Given the description of an element on the screen output the (x, y) to click on. 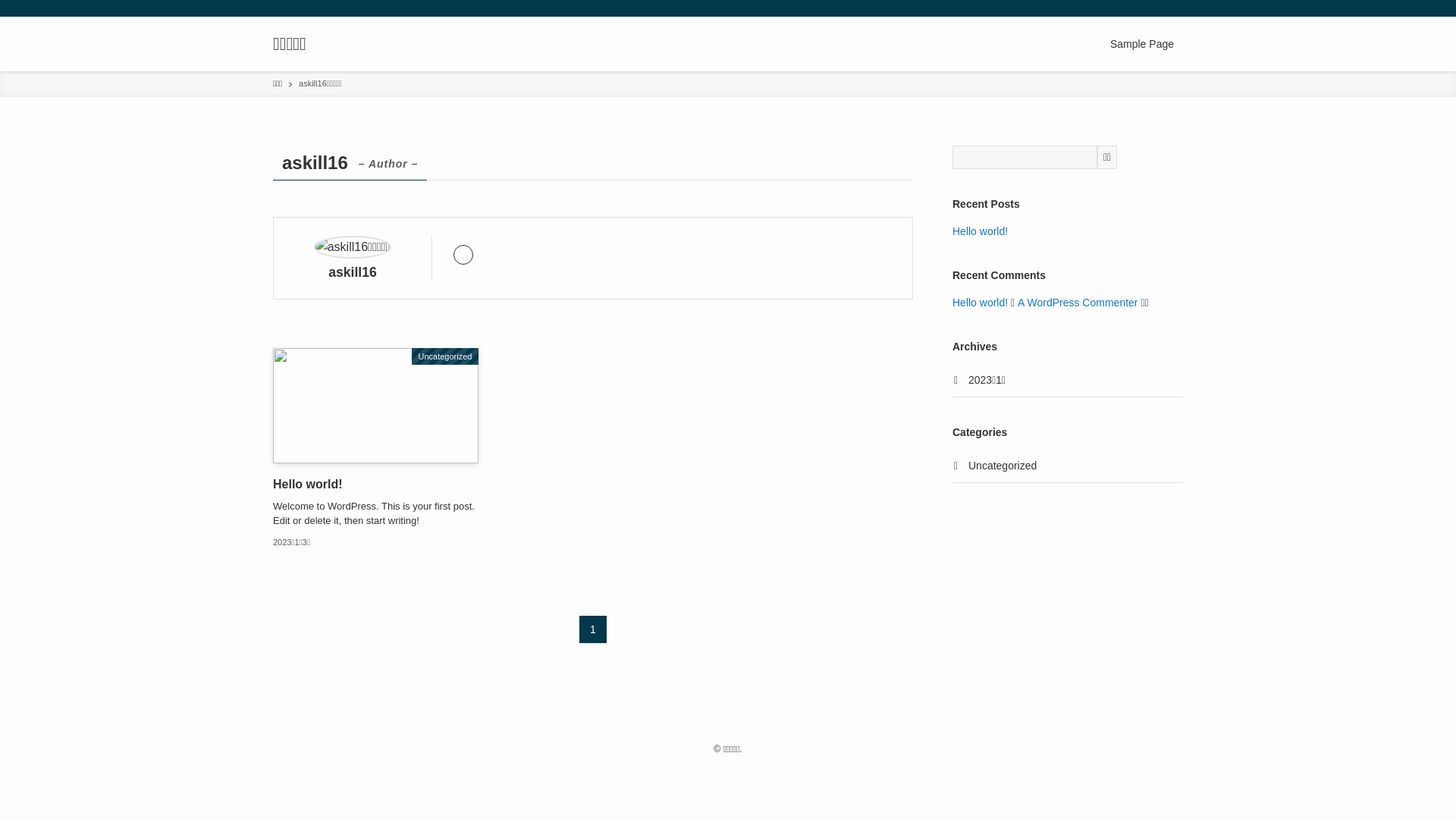
Hello world! Element type: text (979, 231)
A WordPress Commenter Element type: text (1077, 302)
Uncategorized Element type: text (1067, 467)
Hello world! Element type: text (979, 302)
Sample Page Element type: text (1142, 43)
